Given the description of an element on the screen output the (x, y) to click on. 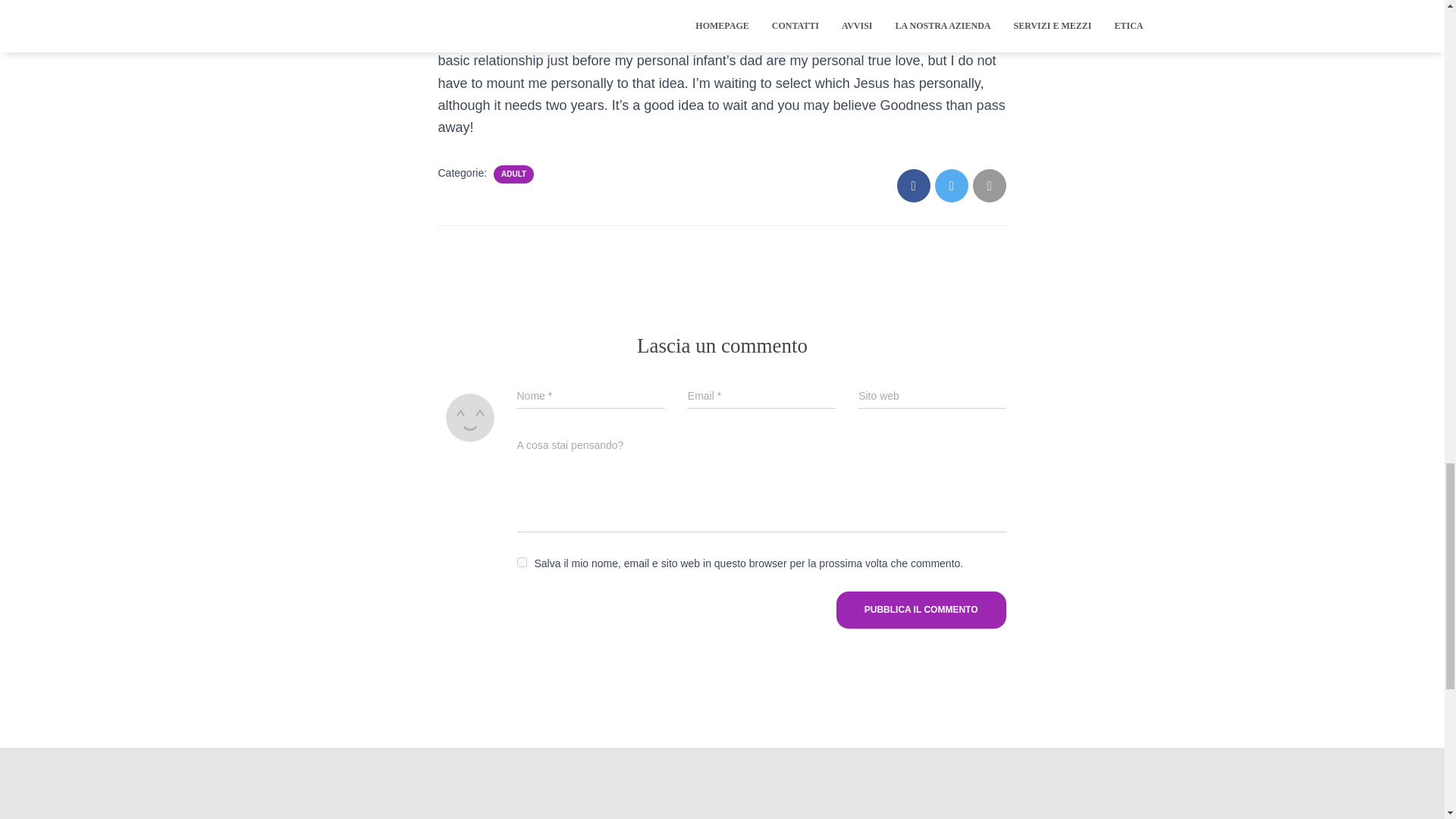
ADULT (512, 174)
Pubblica il commento (920, 609)
yes (521, 562)
Pubblica il commento (920, 609)
